Given the description of an element on the screen output the (x, y) to click on. 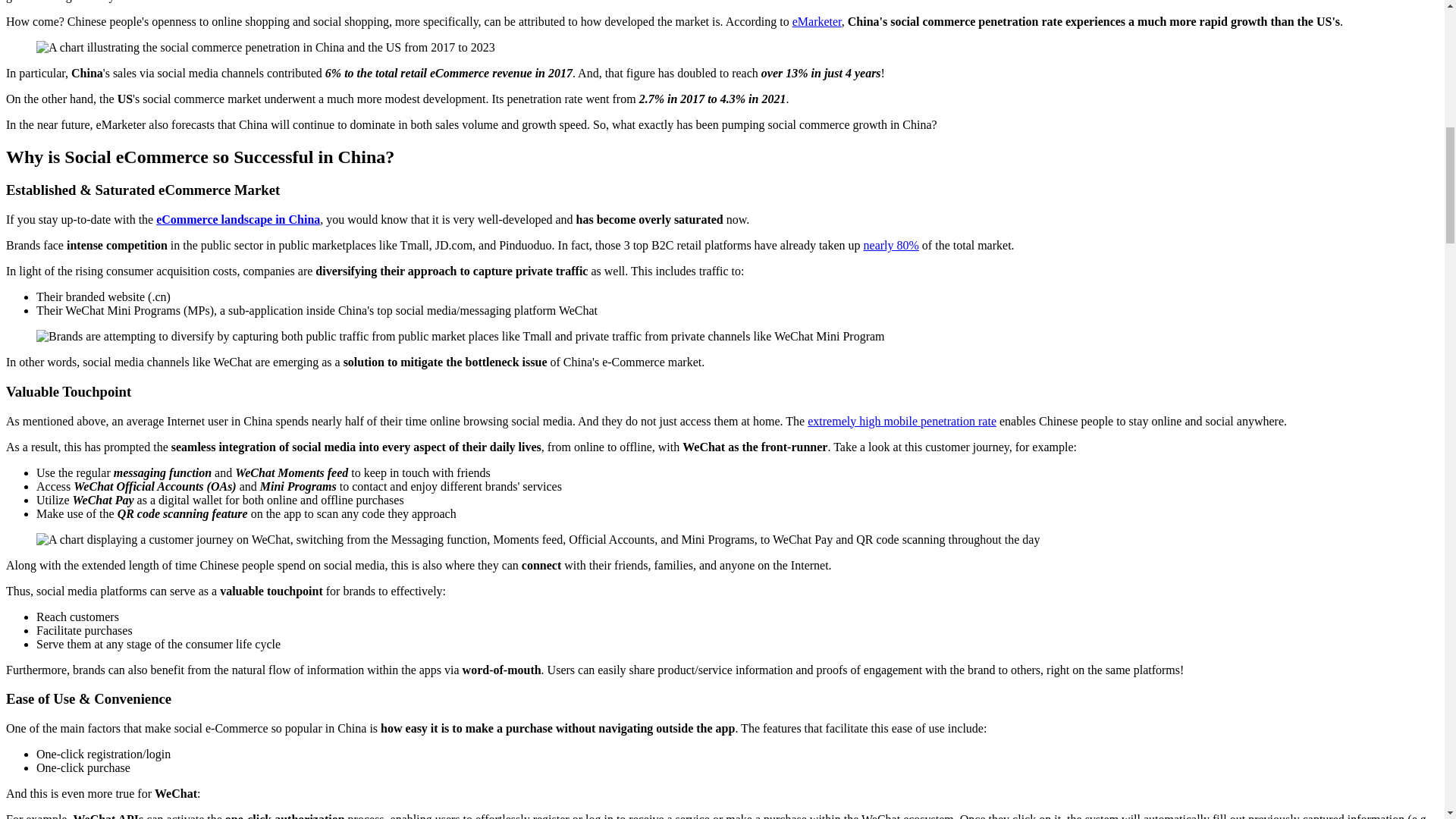
eCommerce landscape in China (237, 219)
eMarketer (816, 21)
extremely high mobile penetration rate (901, 420)
